Given the description of an element on the screen output the (x, y) to click on. 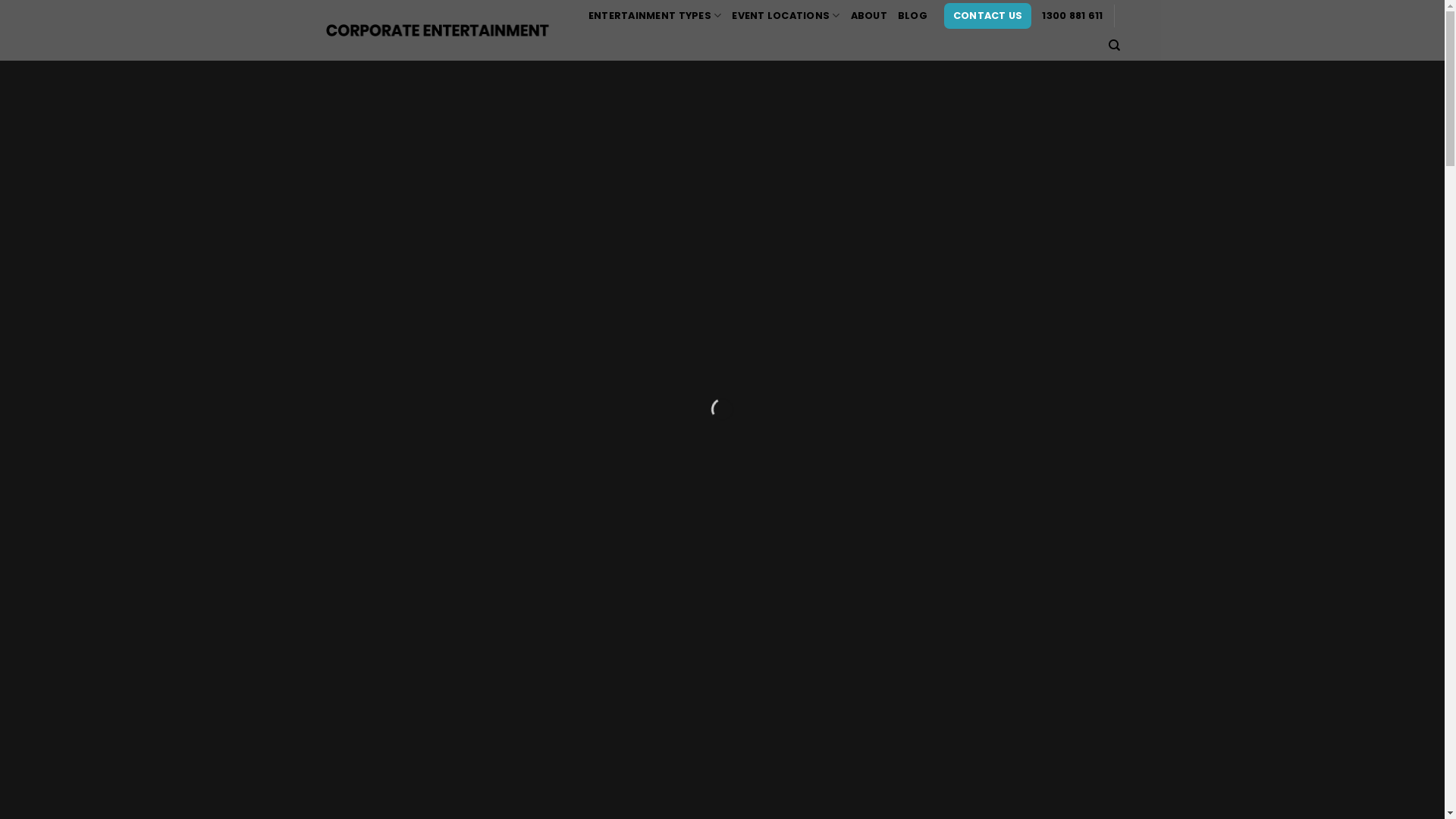
ABOUT Element type: text (868, 15)
1300 881 611 Element type: text (1071, 15)
EVENT LOCATIONS Element type: text (785, 15)
BLOG Element type: text (912, 15)
CONTACT US Element type: text (987, 15)
Corporate Entertainment - Entertainment for Corporate Events Element type: hover (437, 29)
ENTERTAINMENT TYPES Element type: text (654, 15)
